Given the description of an element on the screen output the (x, y) to click on. 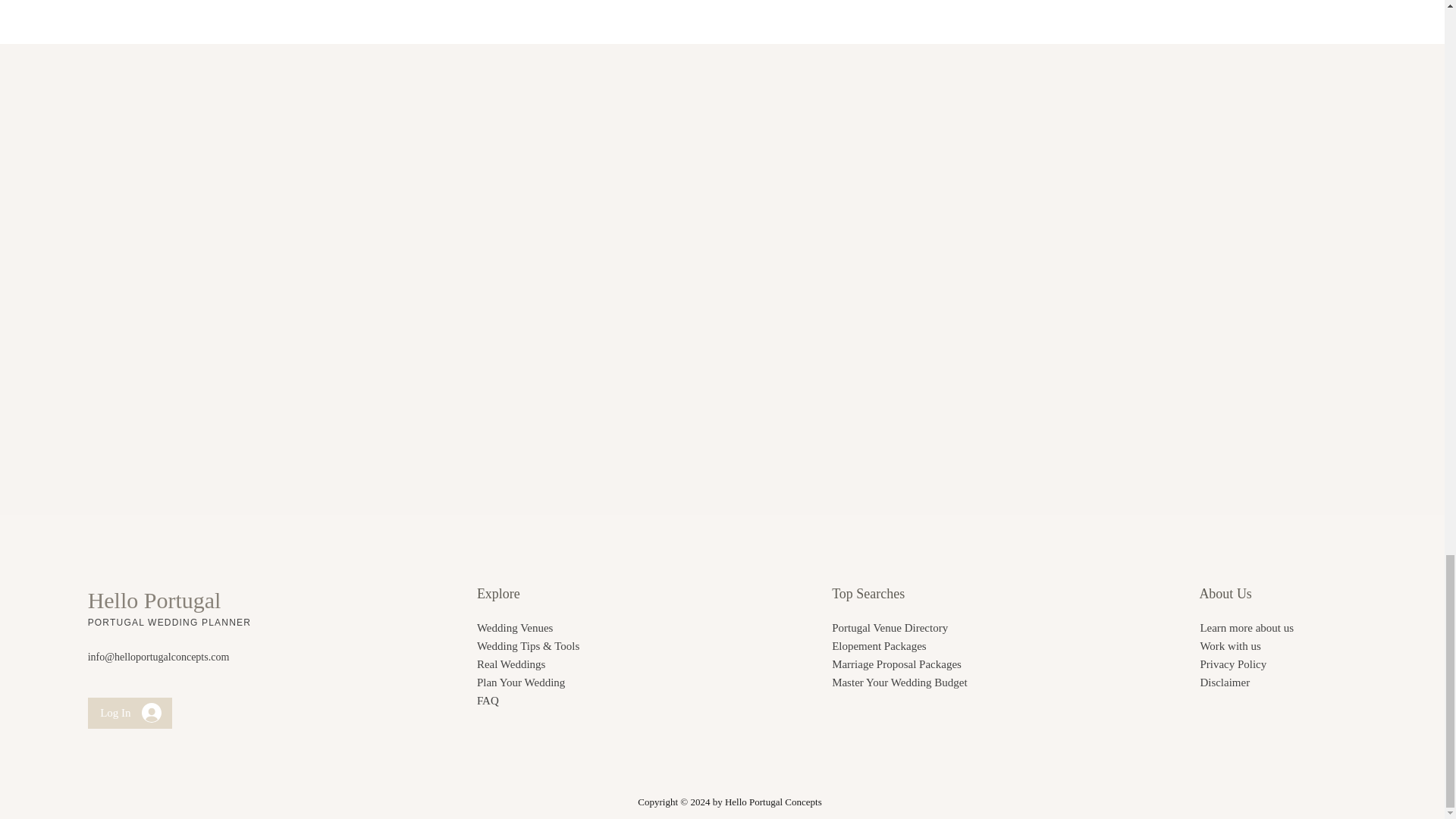
Explore (498, 593)
Wedding Venues (515, 627)
Portugal Venue Directory (889, 627)
Top Searches (867, 593)
Real Weddings (511, 664)
Plan Your Wedding (520, 682)
FAQ (488, 700)
Log In (129, 712)
